Given the description of an element on the screen output the (x, y) to click on. 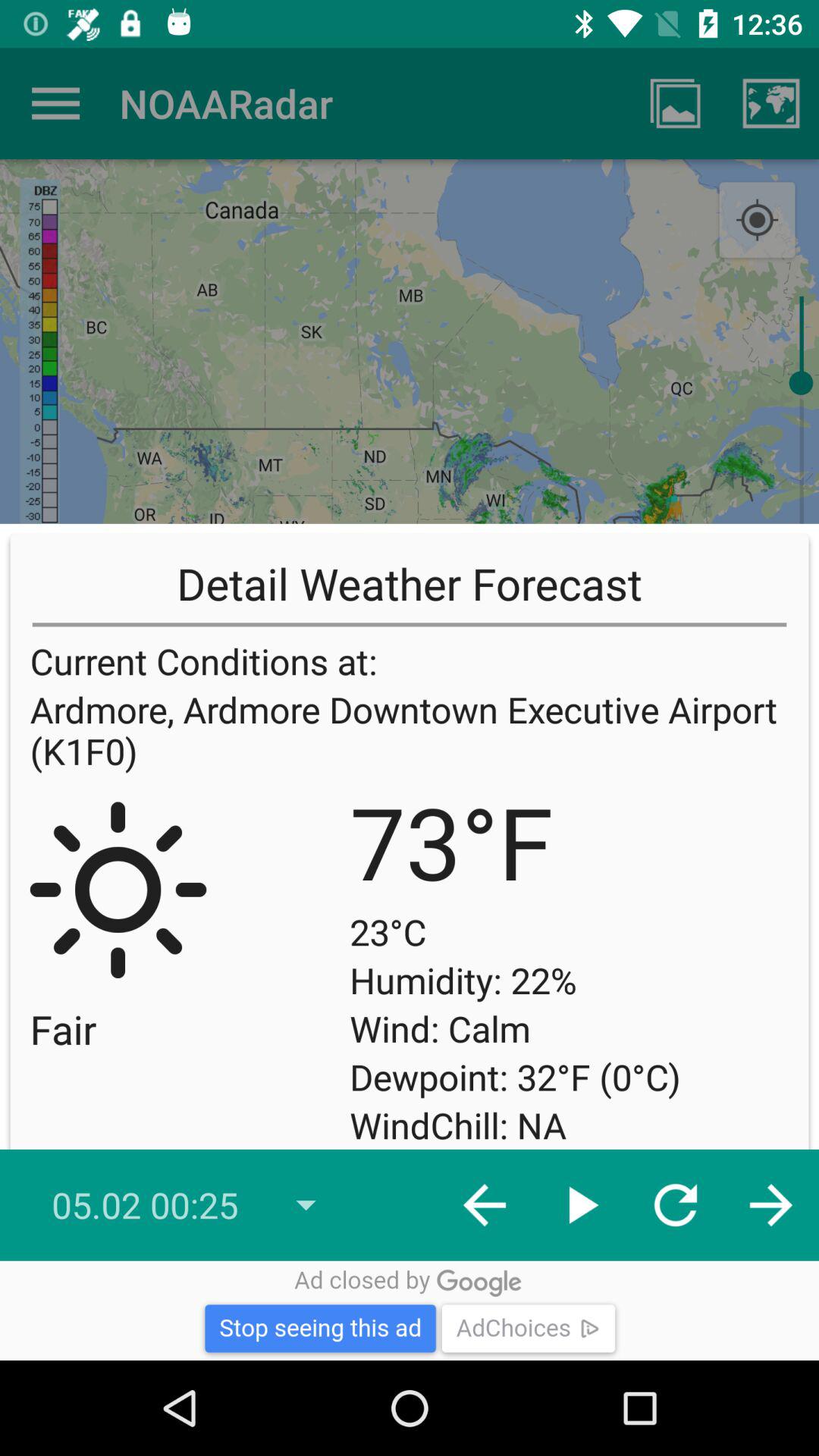
close advertisement (409, 1310)
